Given the description of an element on the screen output the (x, y) to click on. 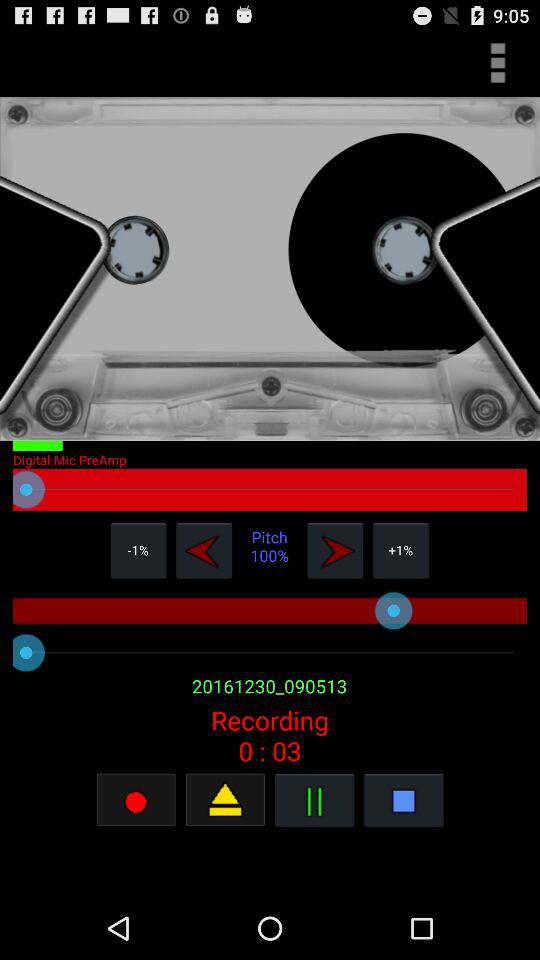
record button (225, 799)
